Given the description of an element on the screen output the (x, y) to click on. 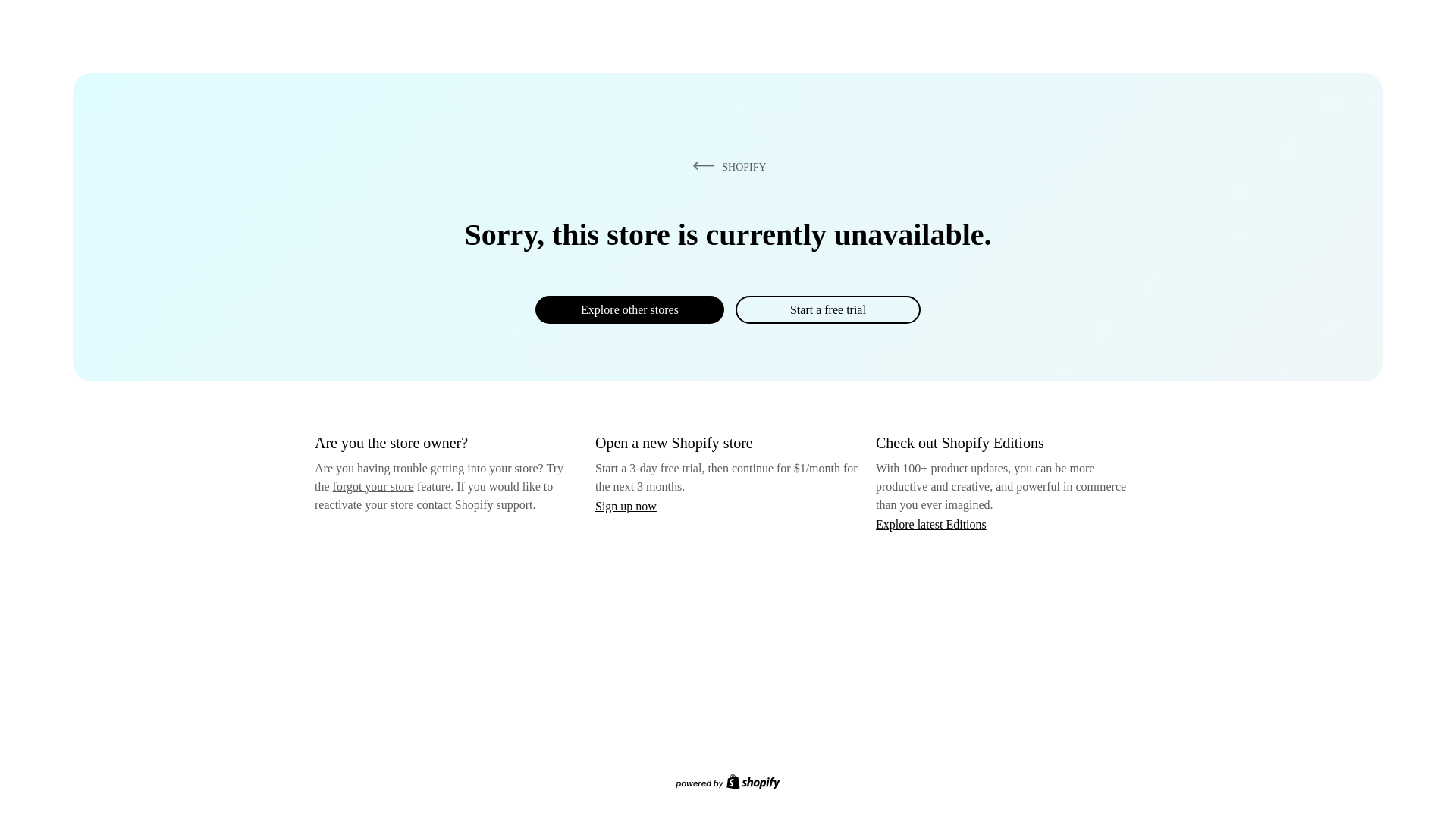
forgot your store (373, 486)
Explore latest Editions (931, 523)
SHOPIFY (726, 166)
Explore other stores (629, 309)
Shopify support (493, 504)
Sign up now (625, 505)
Start a free trial (827, 309)
